Given the description of an element on the screen output the (x, y) to click on. 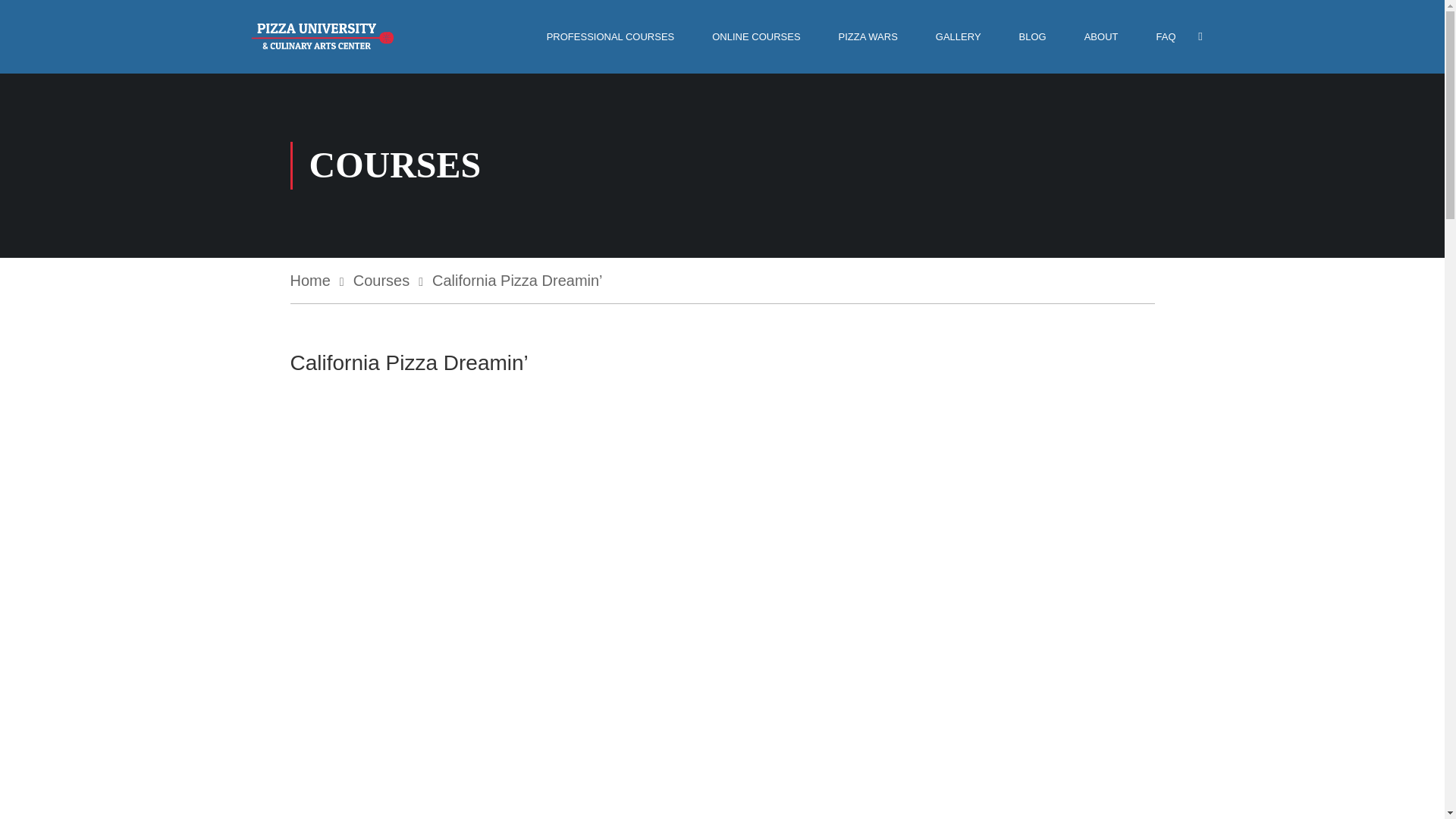
Courses (388, 281)
FAQ (1165, 37)
ABOUT (1101, 37)
ONLINE COURSES (755, 37)
PIZZA WARS (868, 37)
PROFESSIONAL COURSES (610, 37)
BLOG (1032, 37)
GALLERY (958, 37)
Home (316, 281)
